Given the description of an element on the screen output the (x, y) to click on. 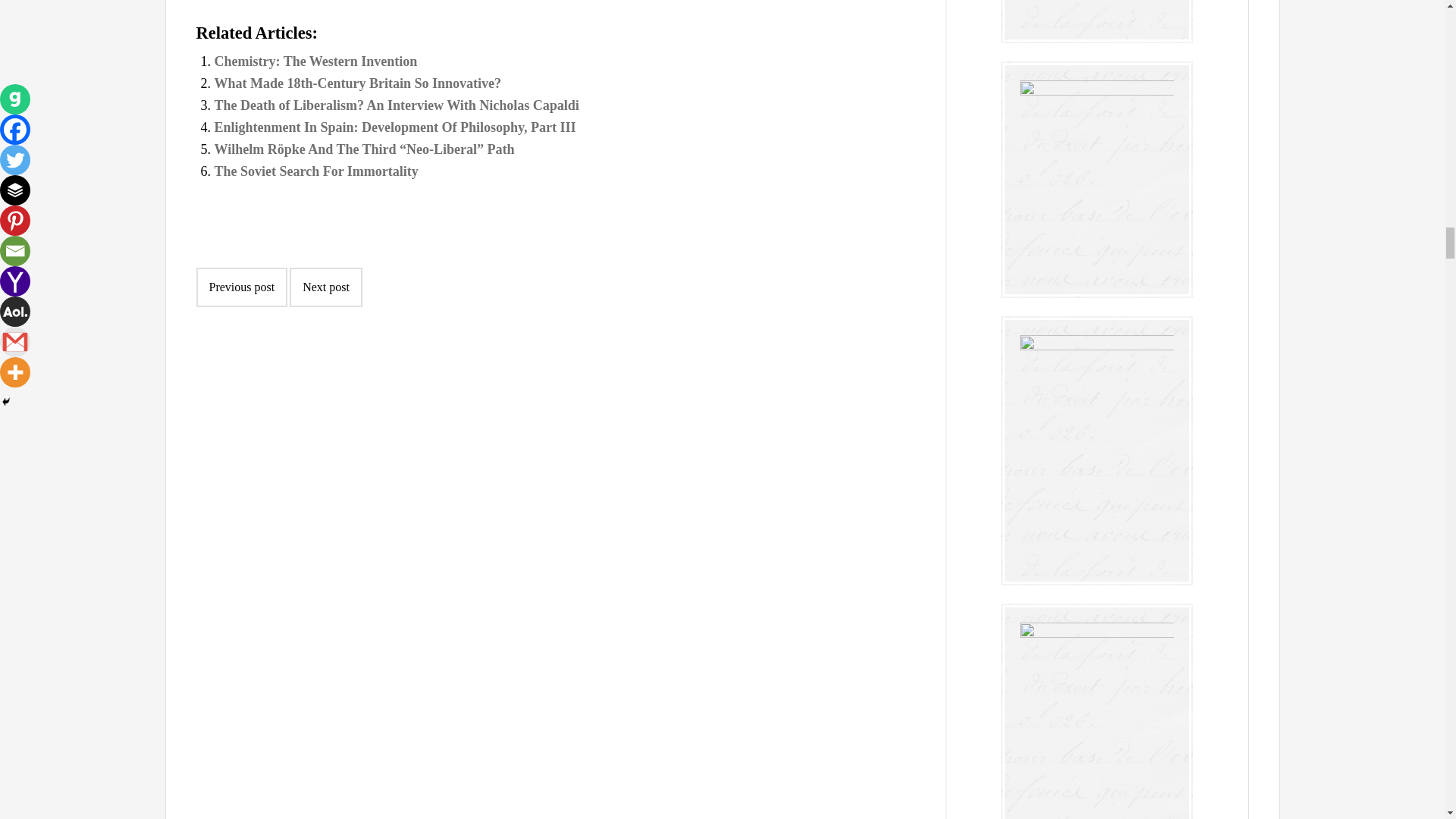
Chemistry: The Western Invention (315, 61)
What Made 18th-Century Britain So Innovative? (357, 83)
